Given the description of an element on the screen output the (x, y) to click on. 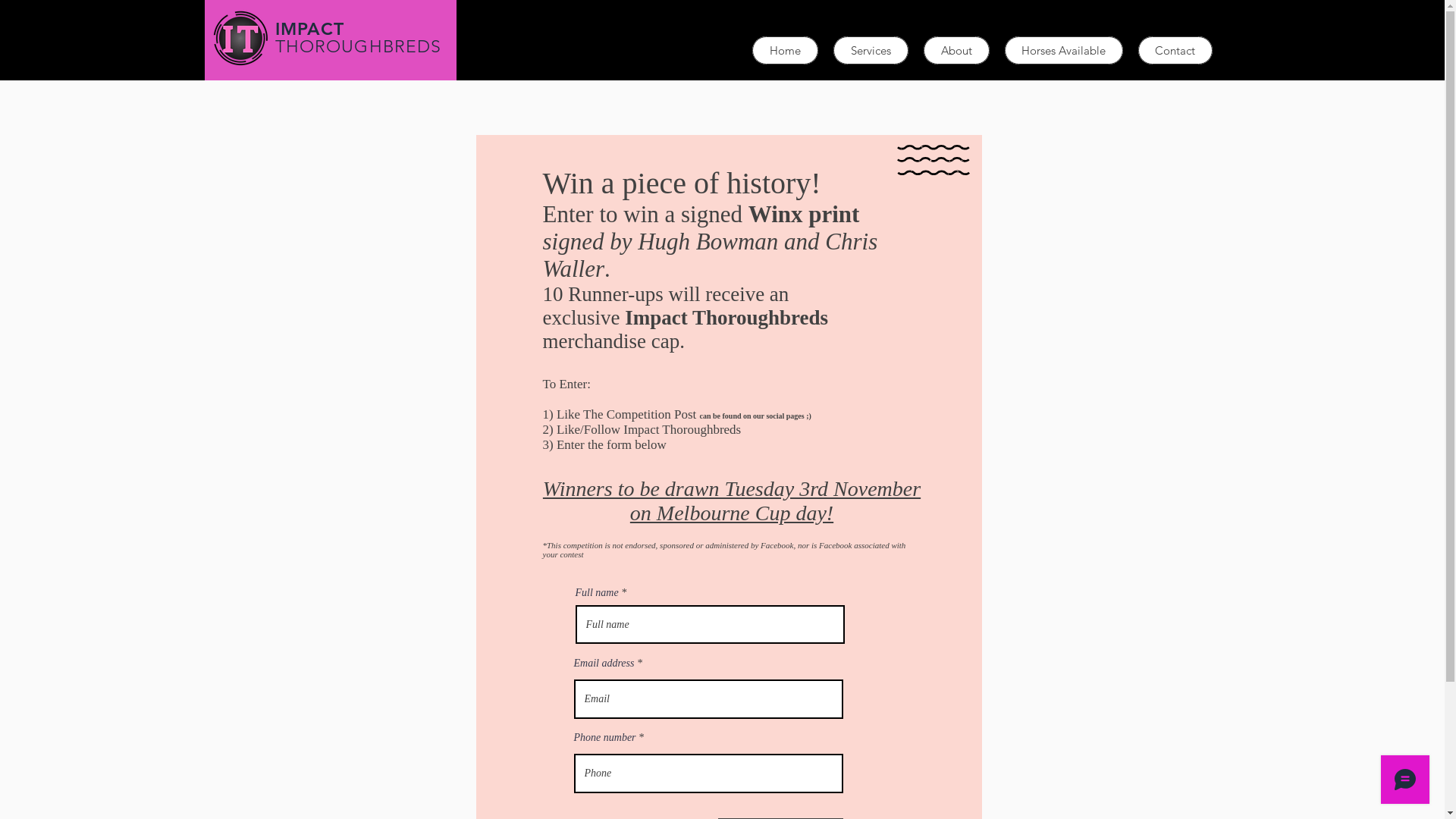
Services Element type: text (869, 50)
Home Element type: text (785, 50)
IMPACT Element type: text (309, 28)
THOROUGHBREDS Element type: text (357, 46)
Contact Element type: text (1174, 50)
About Element type: text (956, 50)
Horses Available Element type: text (1063, 50)
